Given the description of an element on the screen output the (x, y) to click on. 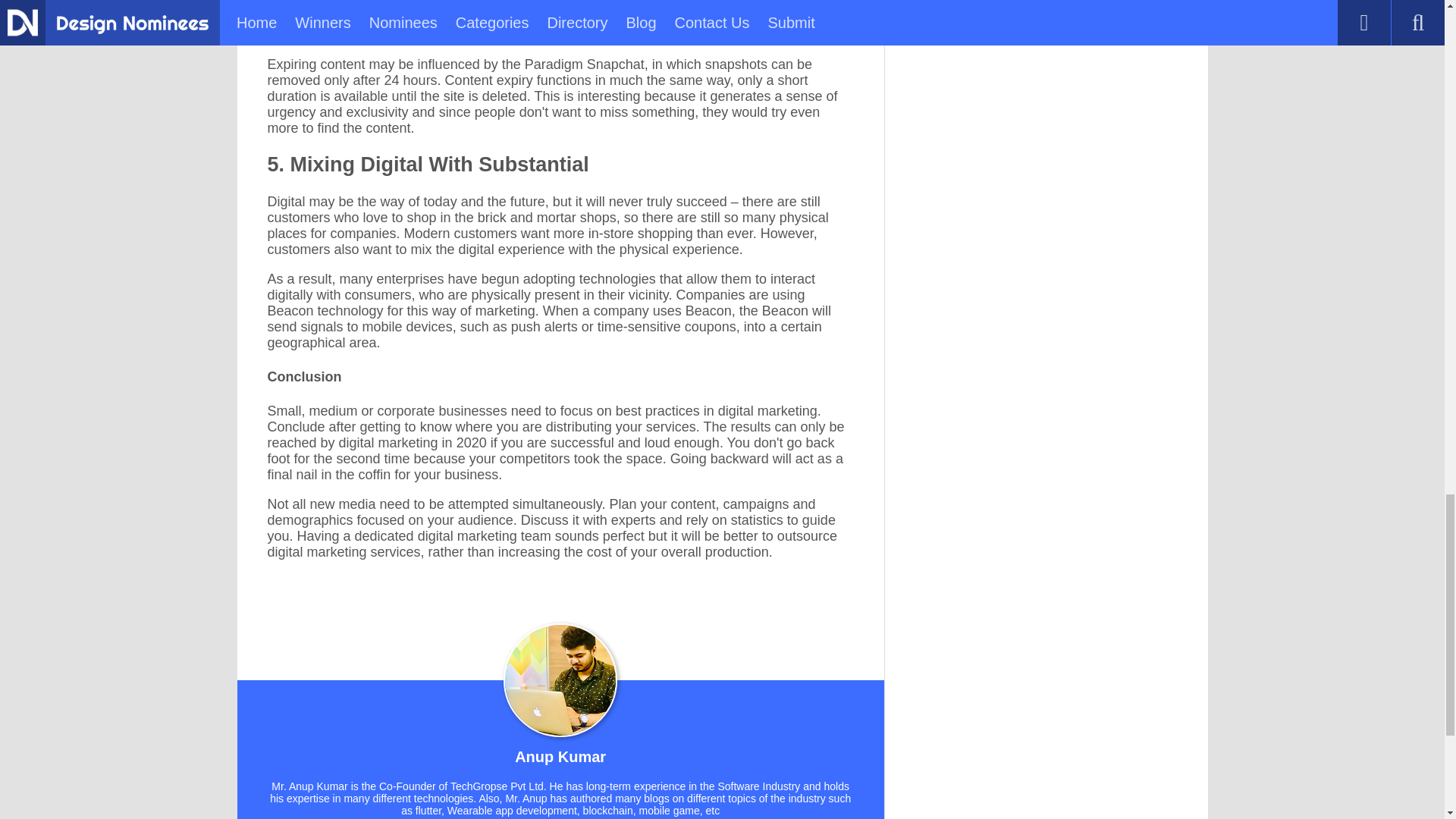
Anup Kumar (560, 758)
